Given the description of an element on the screen output the (x, y) to click on. 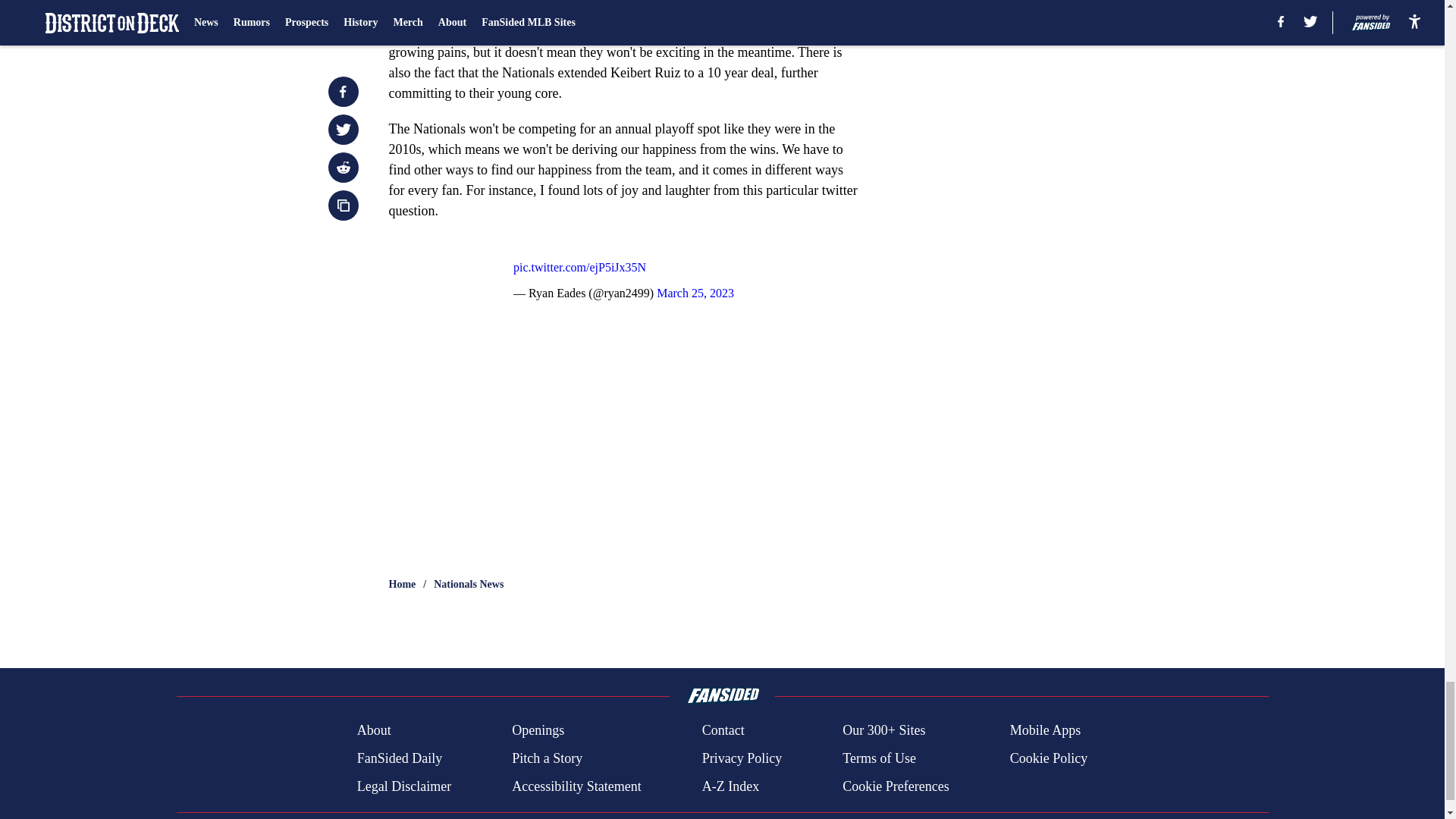
Pitch a Story (547, 758)
Accessibility Statement (576, 786)
Nationals News (468, 584)
Openings (538, 730)
Terms of Use (879, 758)
March 25, 2023 (694, 292)
Mobile Apps (1045, 730)
Contact (722, 730)
Home (401, 584)
Legal Disclaimer (403, 786)
